Given the description of an element on the screen output the (x, y) to click on. 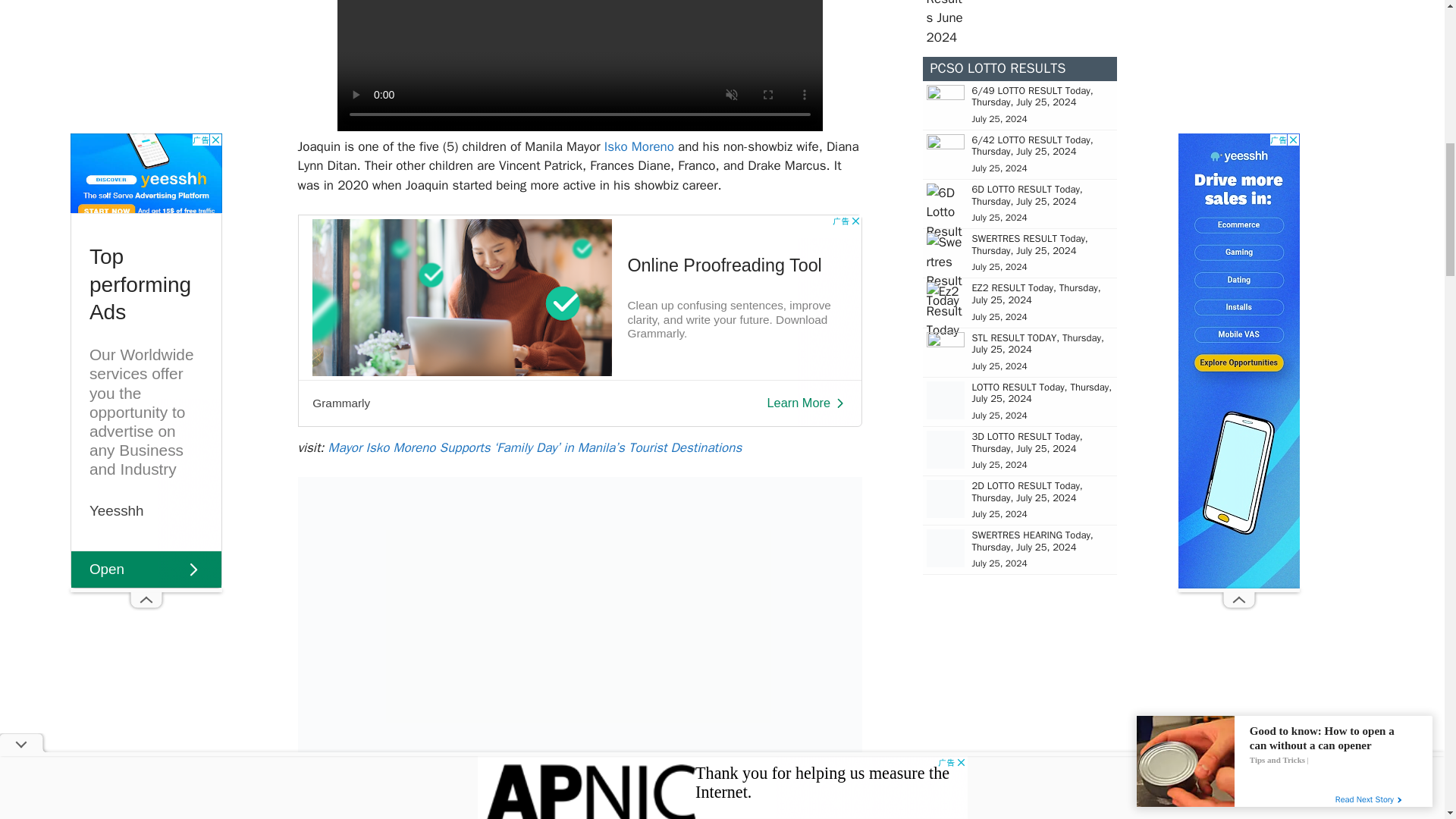
Advertisement (579, 320)
